Given the description of an element on the screen output the (x, y) to click on. 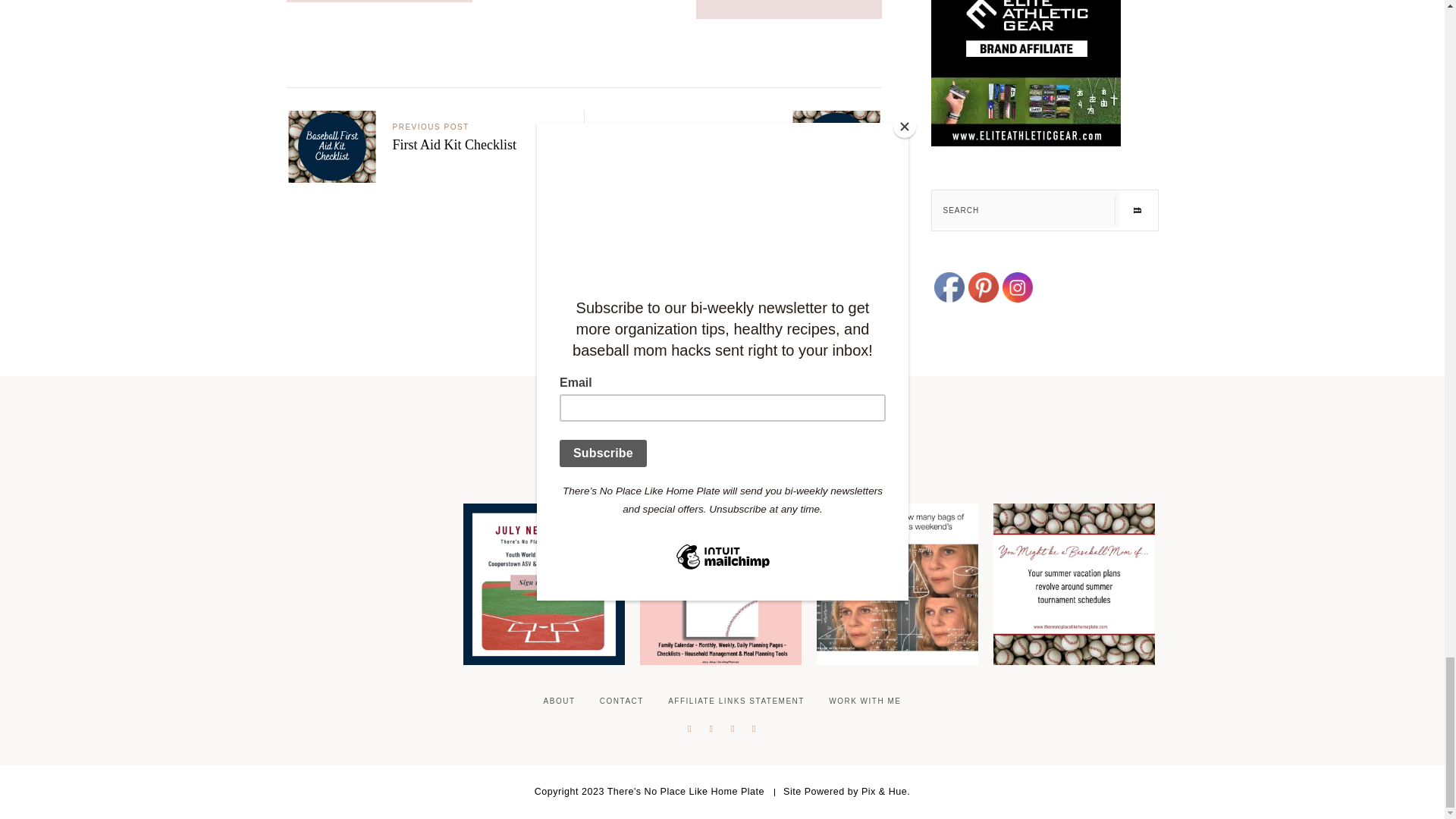
Pinterest (982, 286)
